Given the description of an element on the screen output the (x, y) to click on. 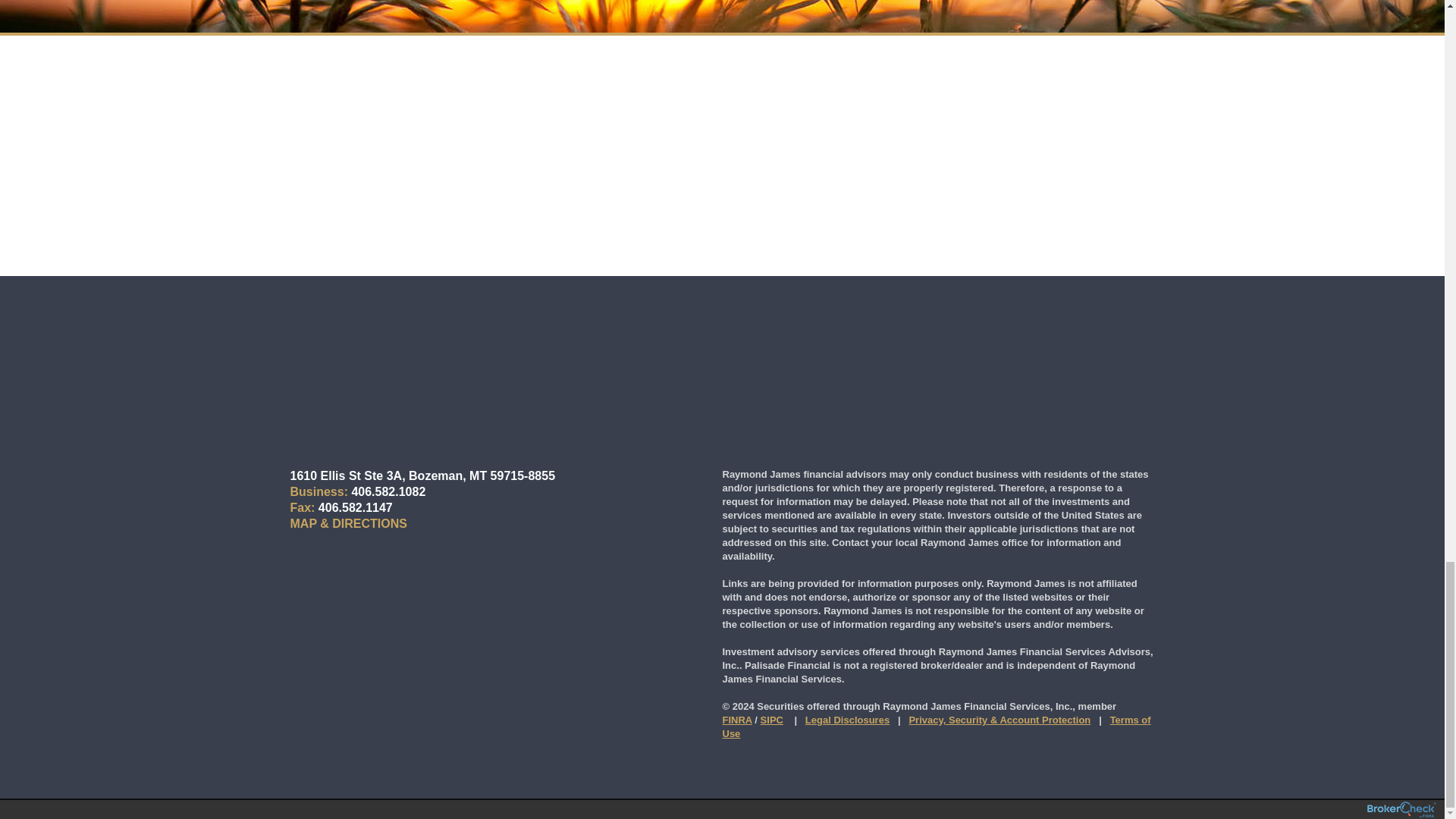
Legal Disclosures (847, 719)
FINRA (736, 719)
Terms of Use (936, 726)
SIPC (771, 719)
Privacy, Security and Account Protection (999, 719)
